Given the description of an element on the screen output the (x, y) to click on. 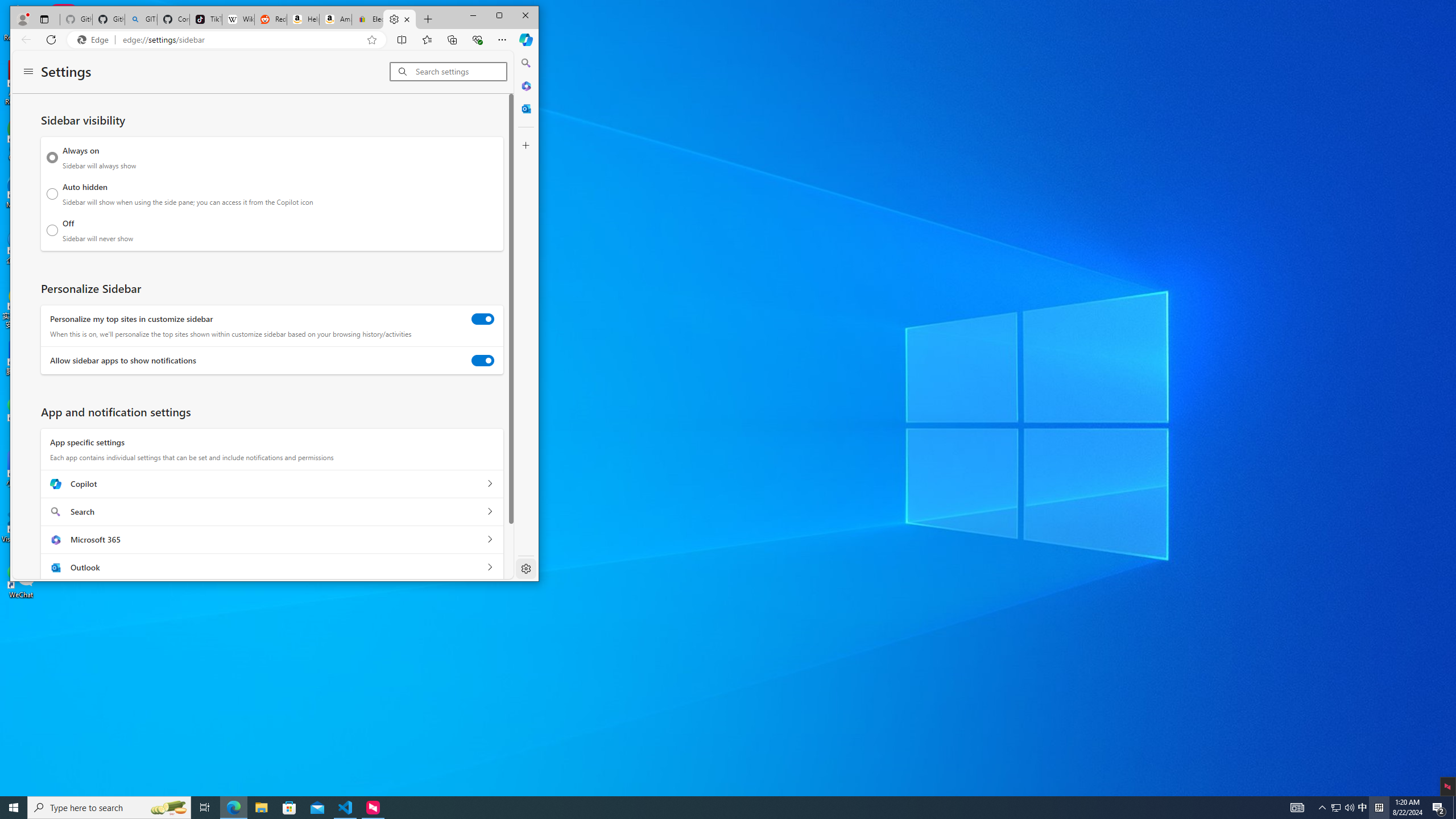
Maximize (499, 15)
Off Sidebar will never show (52, 229)
Tray Input Indicator - Chinese (Simplified, China) (1378, 807)
Personalize my top sites in customize sidebar (482, 319)
